Given the description of an element on the screen output the (x, y) to click on. 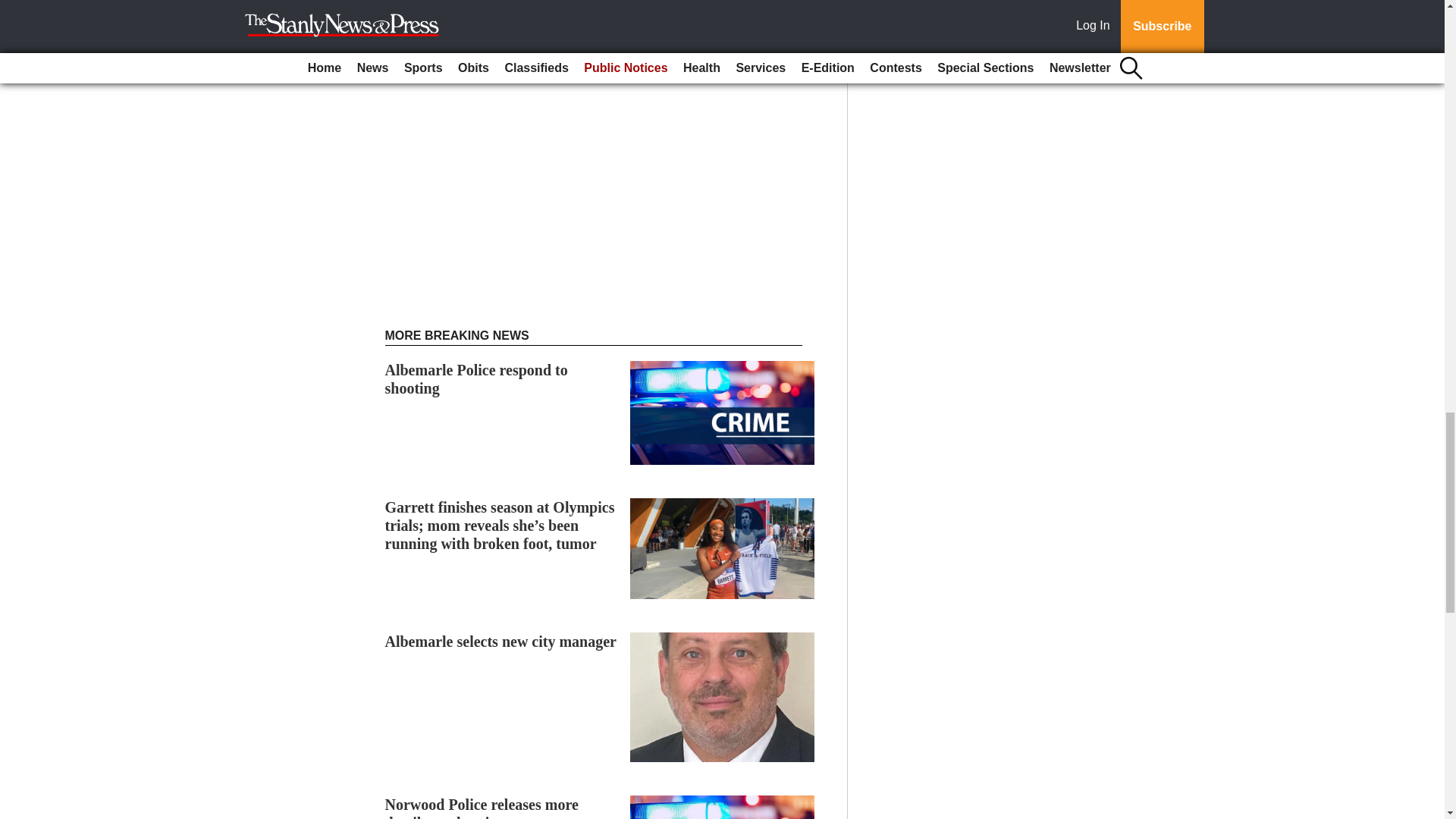
Albemarle selects new city manager (500, 641)
Albemarle selects new city manager (500, 641)
Albemarle Police respond to shooting (476, 378)
Albemarle Police respond to shooting (476, 378)
Norwood Police releases more details on shooting (481, 807)
